Given the description of an element on the screen output the (x, y) to click on. 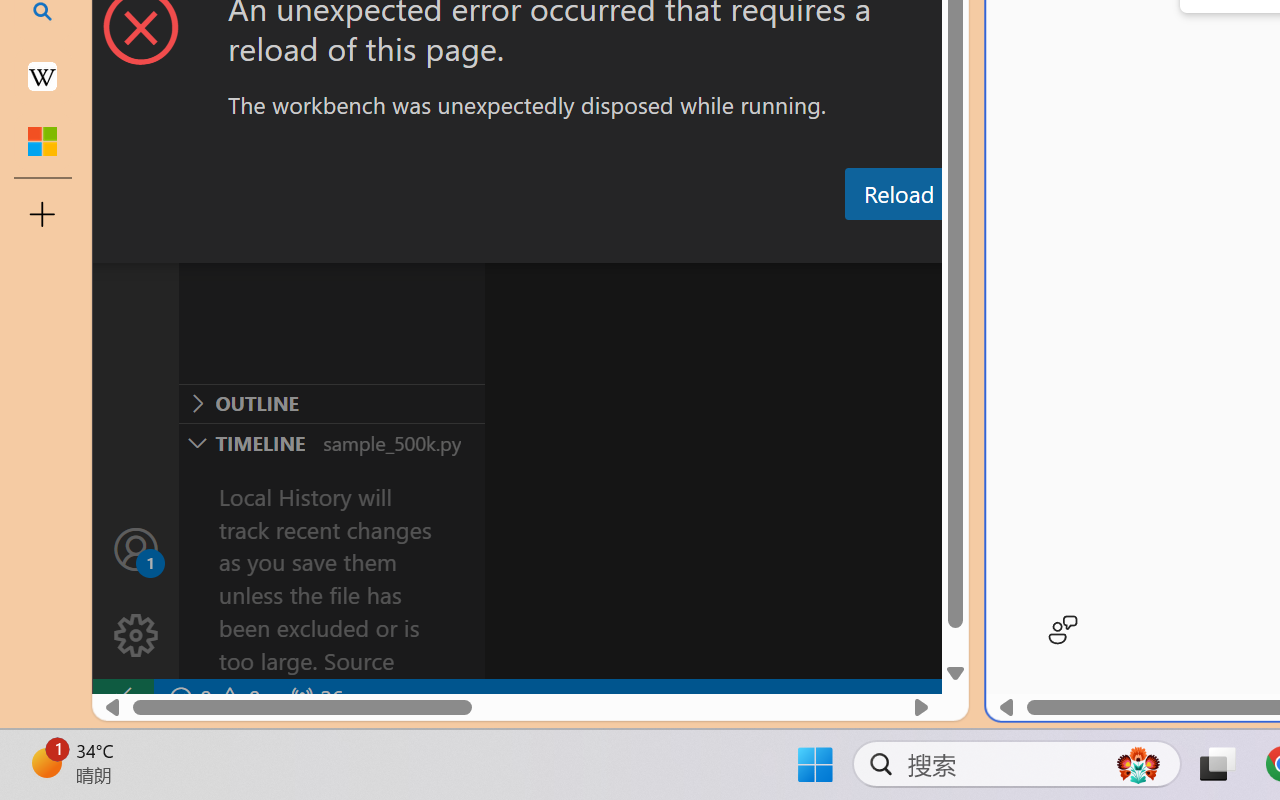
No Problems (212, 698)
Problems (Ctrl+Shift+M) (567, 243)
Reload (898, 193)
